Given the description of an element on the screen output the (x, y) to click on. 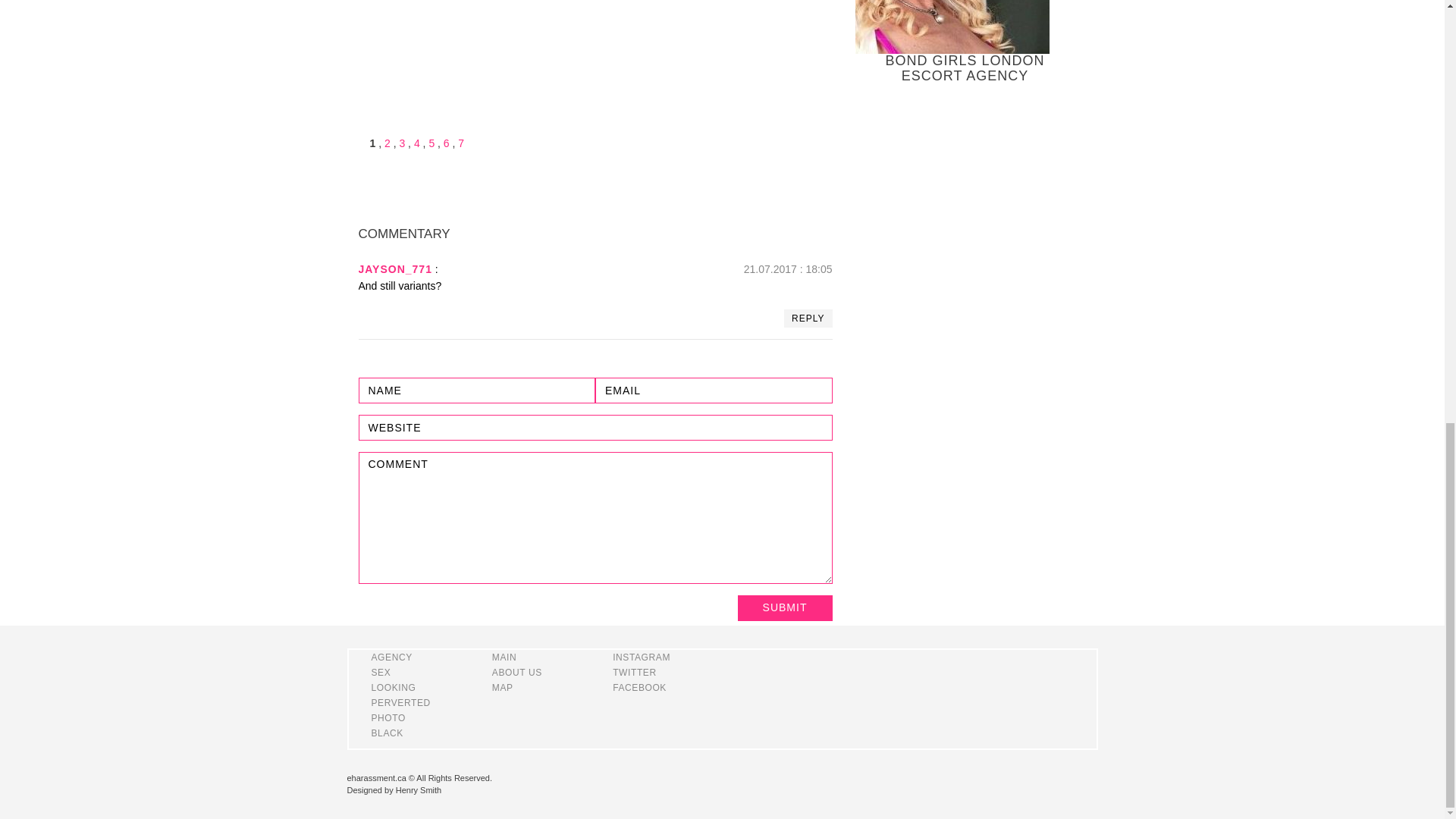
7 (461, 143)
PHOTO (388, 717)
submit (783, 607)
5 (430, 143)
LOOKING (393, 687)
AGENCY (391, 656)
BOND GIRLS LONDON ESCORT AGENCY (965, 42)
MAIN (504, 656)
2 (387, 143)
6 (446, 143)
PERVERTED (400, 702)
21.07.2017 : 18:05 (788, 269)
ABOUT US (516, 672)
MAP (502, 687)
REPLY (808, 317)
